Given the description of an element on the screen output the (x, y) to click on. 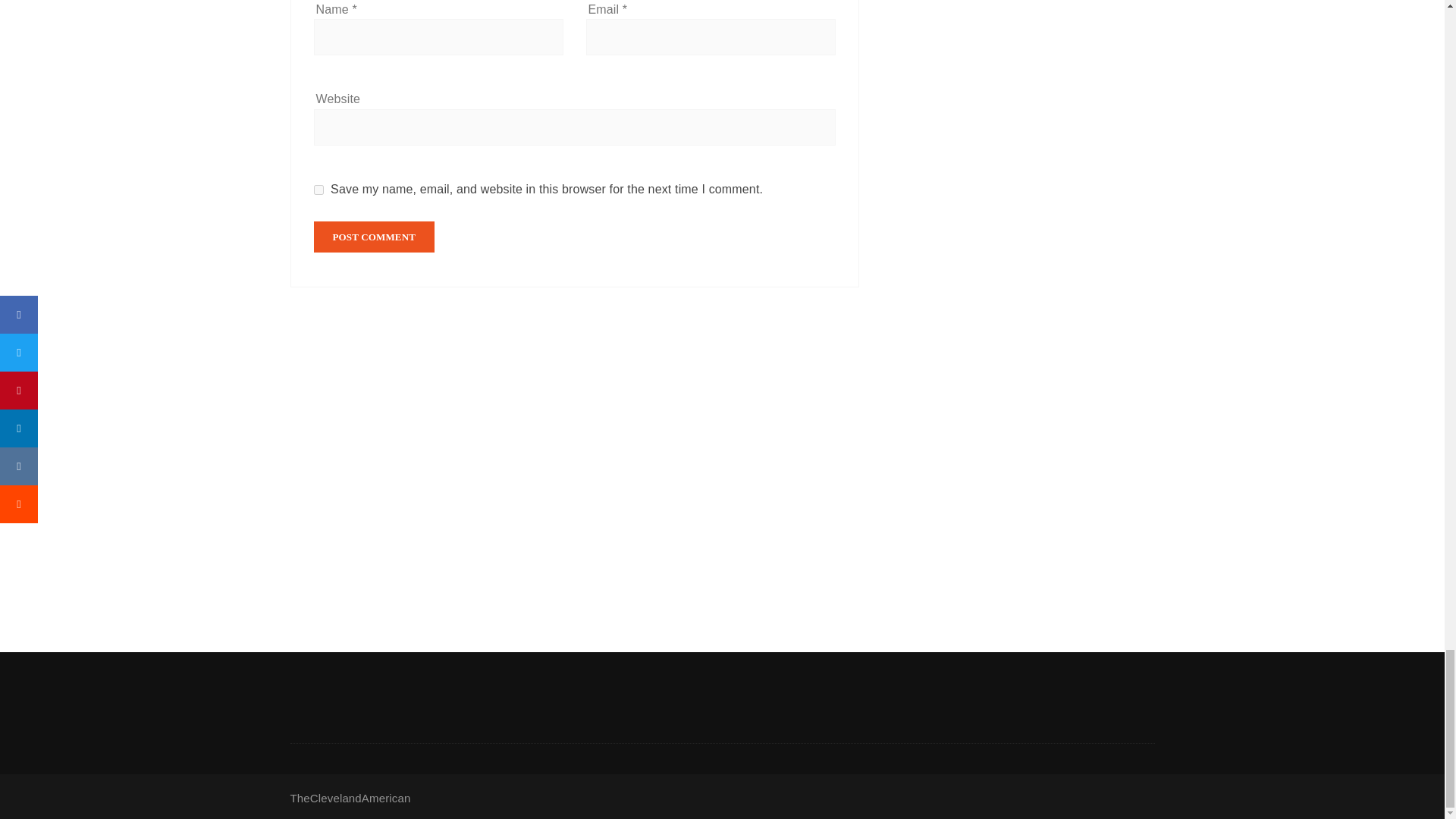
yes (318, 189)
Post Comment (374, 236)
Post Comment (374, 236)
